Given the description of an element on the screen output the (x, y) to click on. 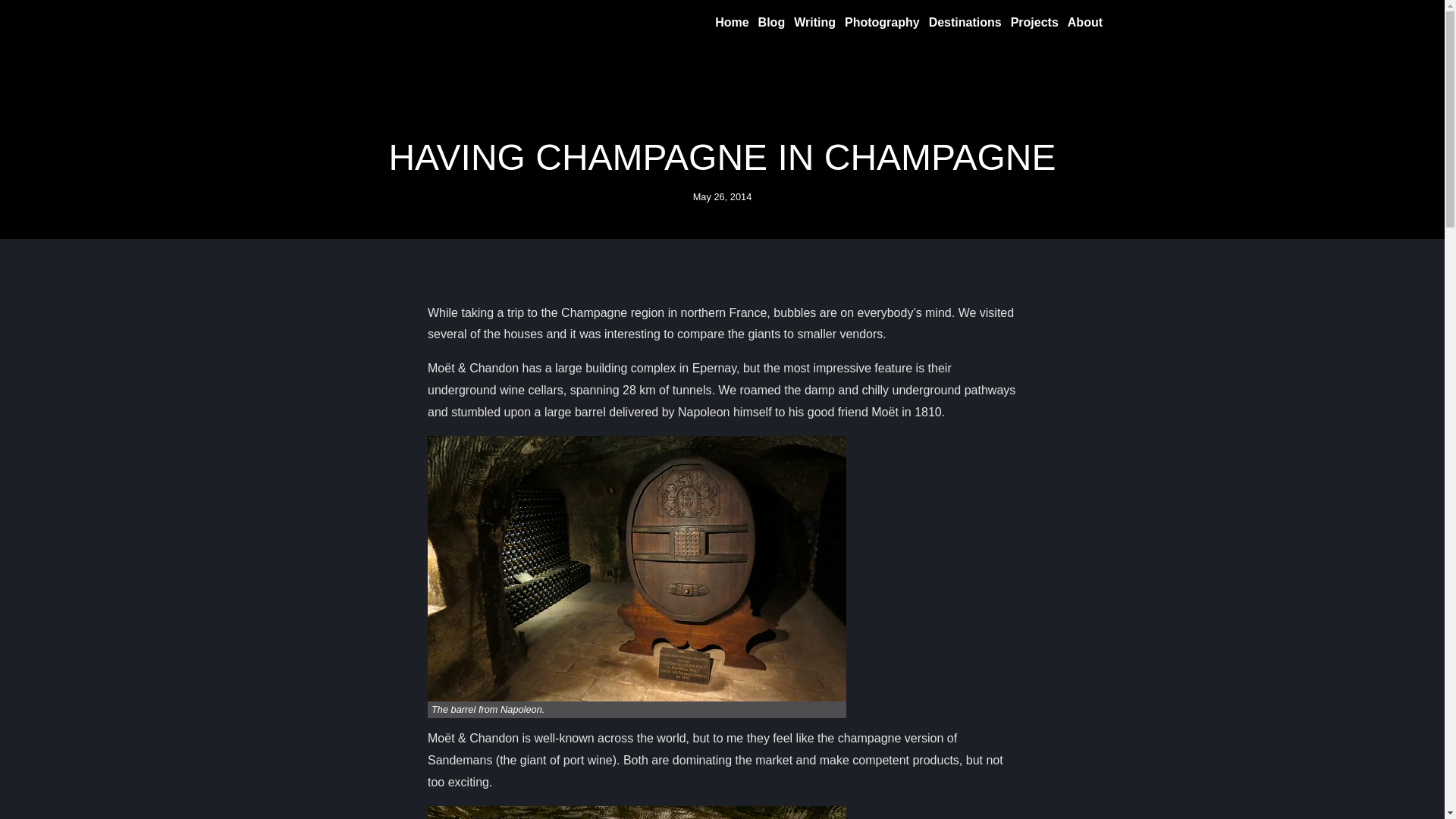
Home (731, 22)
Destinations (965, 22)
Start page (411, 22)
Blog (772, 22)
Writing (814, 22)
Photography (882, 22)
Mink Machine (411, 22)
About (1084, 22)
Projects (1034, 22)
